Given the description of an element on the screen output the (x, y) to click on. 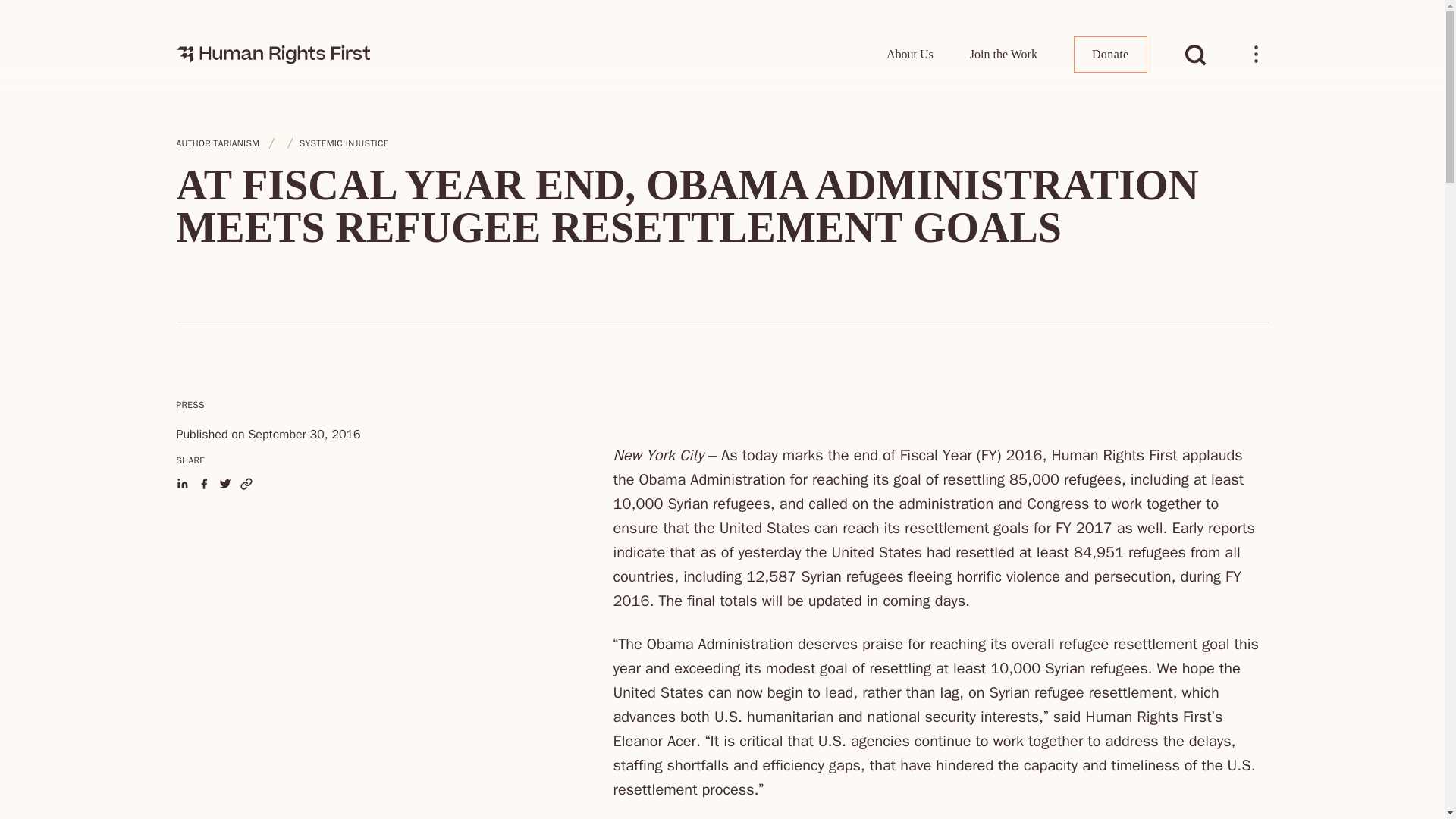
Donate (1110, 54)
Share on Twitter (224, 483)
Join the Work (1002, 54)
About Us (909, 54)
Share on Facebook (202, 483)
Share on LinkedIn (181, 483)
